Given the description of an element on the screen output the (x, y) to click on. 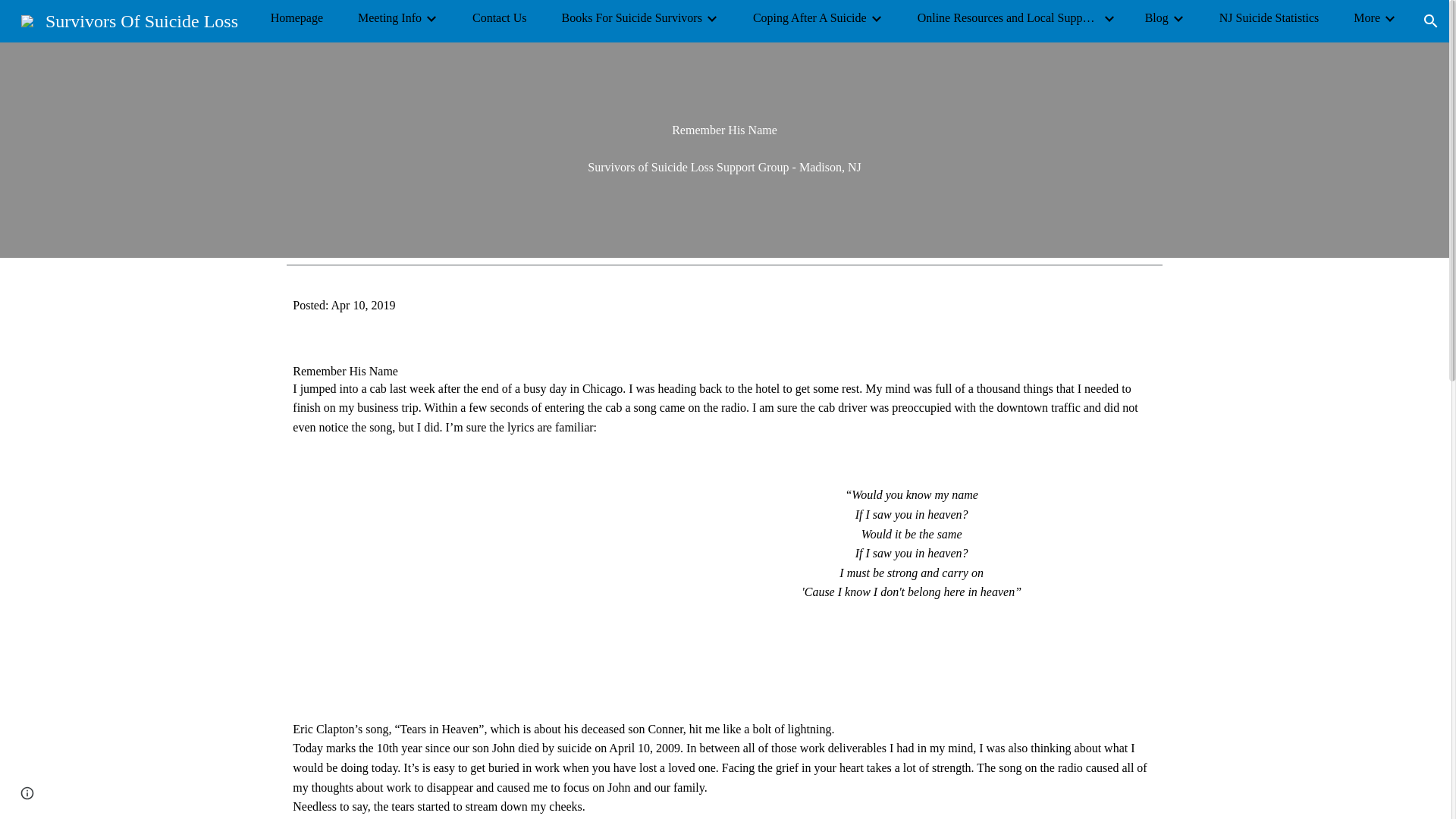
Online Resources and Local Support Groups (1008, 17)
